Given the description of an element on the screen output the (x, y) to click on. 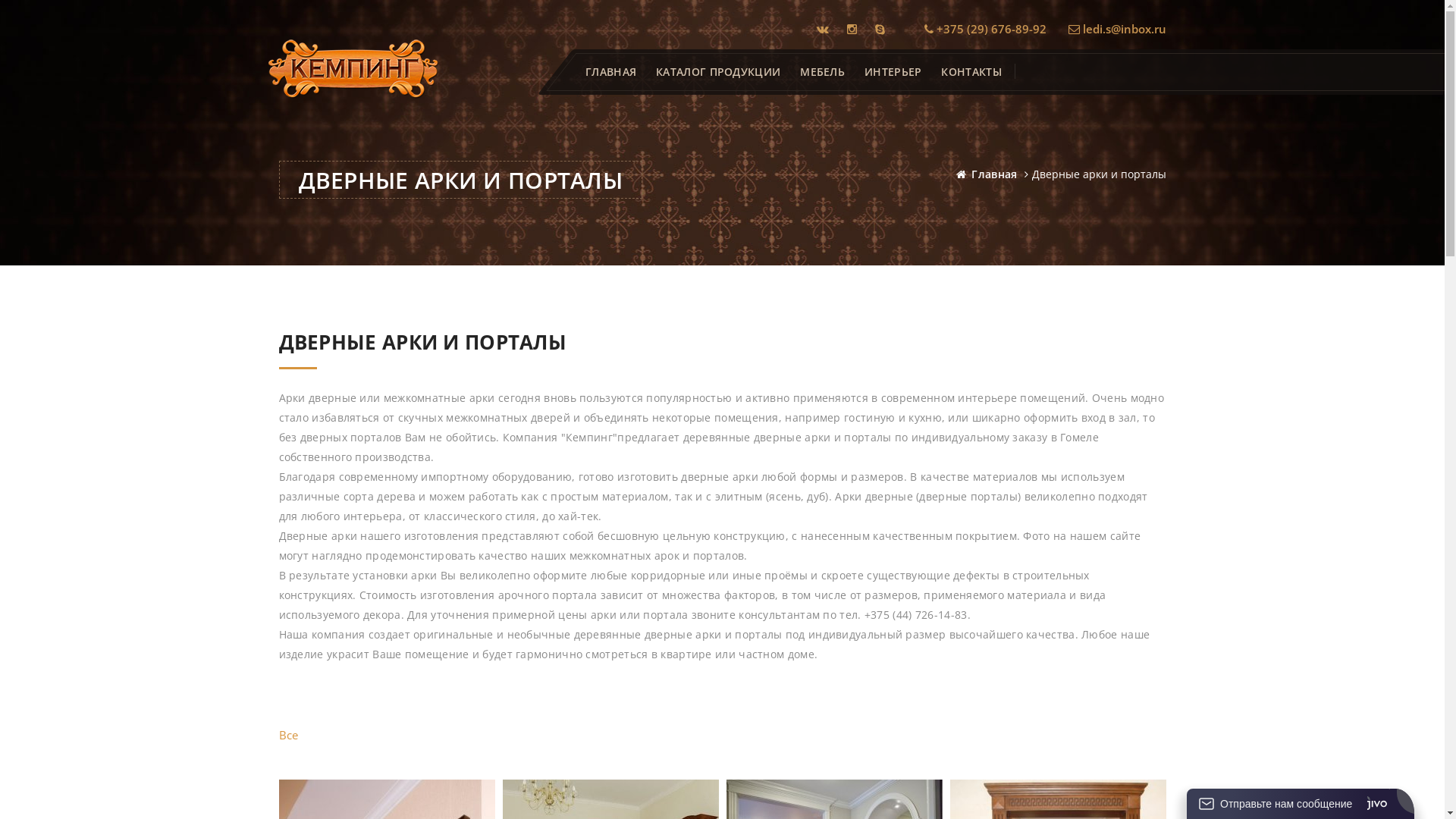
ledi.s@inbox.ru Element type: text (1116, 28)
+375 (29) 676-89-92 Element type: text (984, 28)
